Given the description of an element on the screen output the (x, y) to click on. 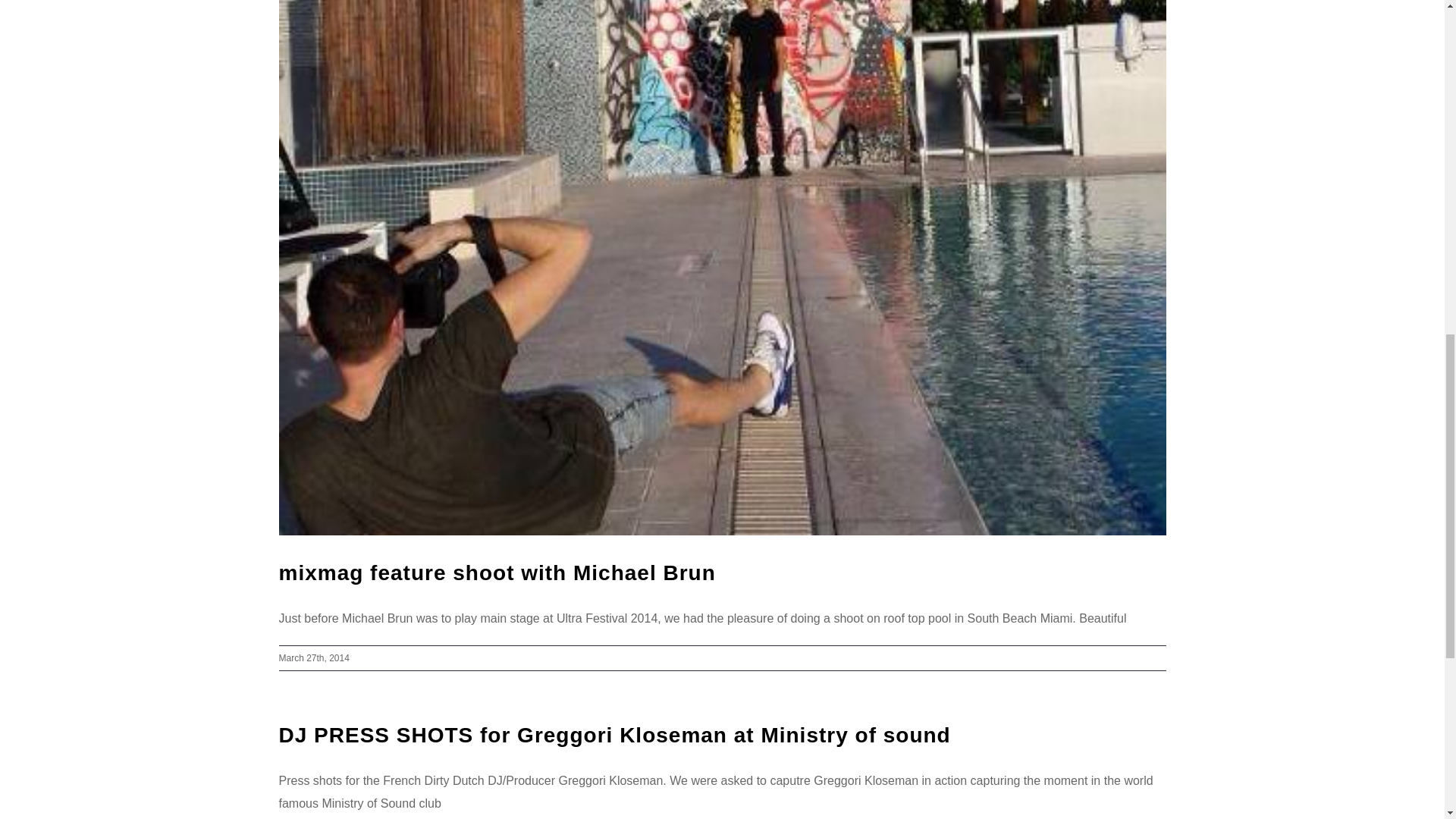
DJ PRESS SHOTS for Greggori Kloseman at Ministry of sound (614, 734)
mixmag feature shoot with Michael Brun (497, 572)
